Given the description of an element on the screen output the (x, y) to click on. 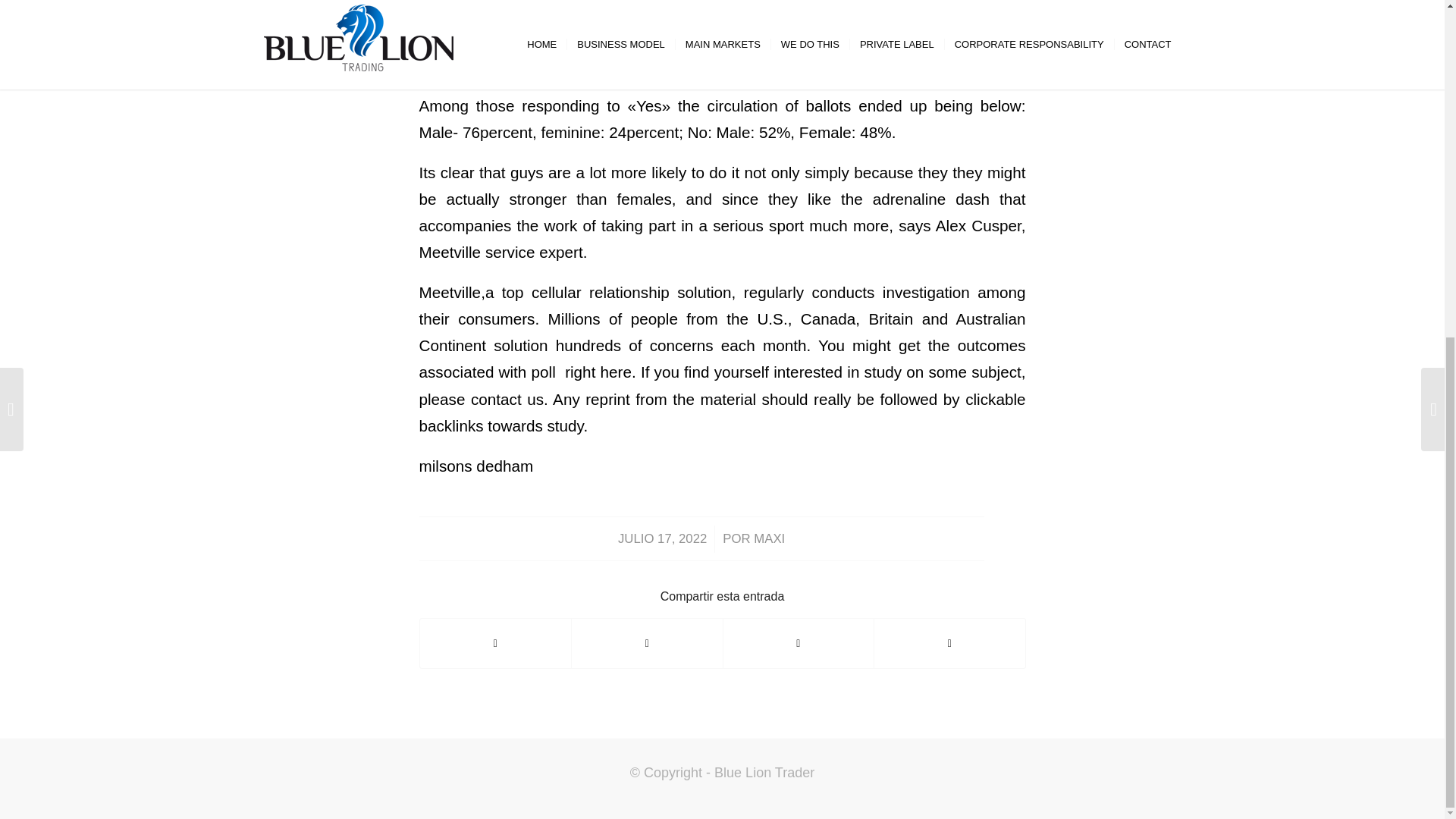
Entradas de maxi (769, 538)
MAXI (769, 538)
milsons dedham (475, 466)
